Given the description of an element on the screen output the (x, y) to click on. 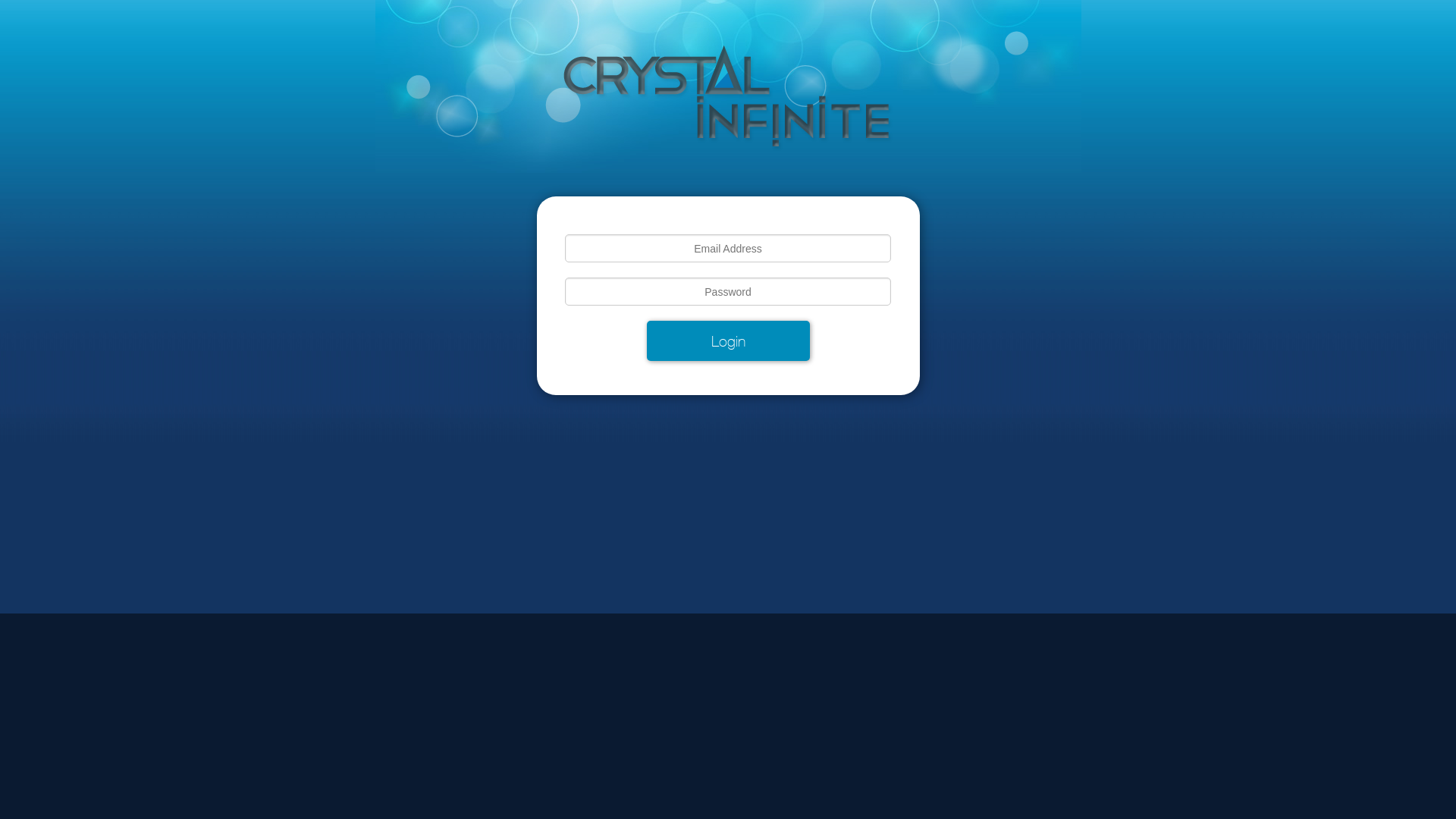
Login Element type: text (727, 340)
